Given the description of an element on the screen output the (x, y) to click on. 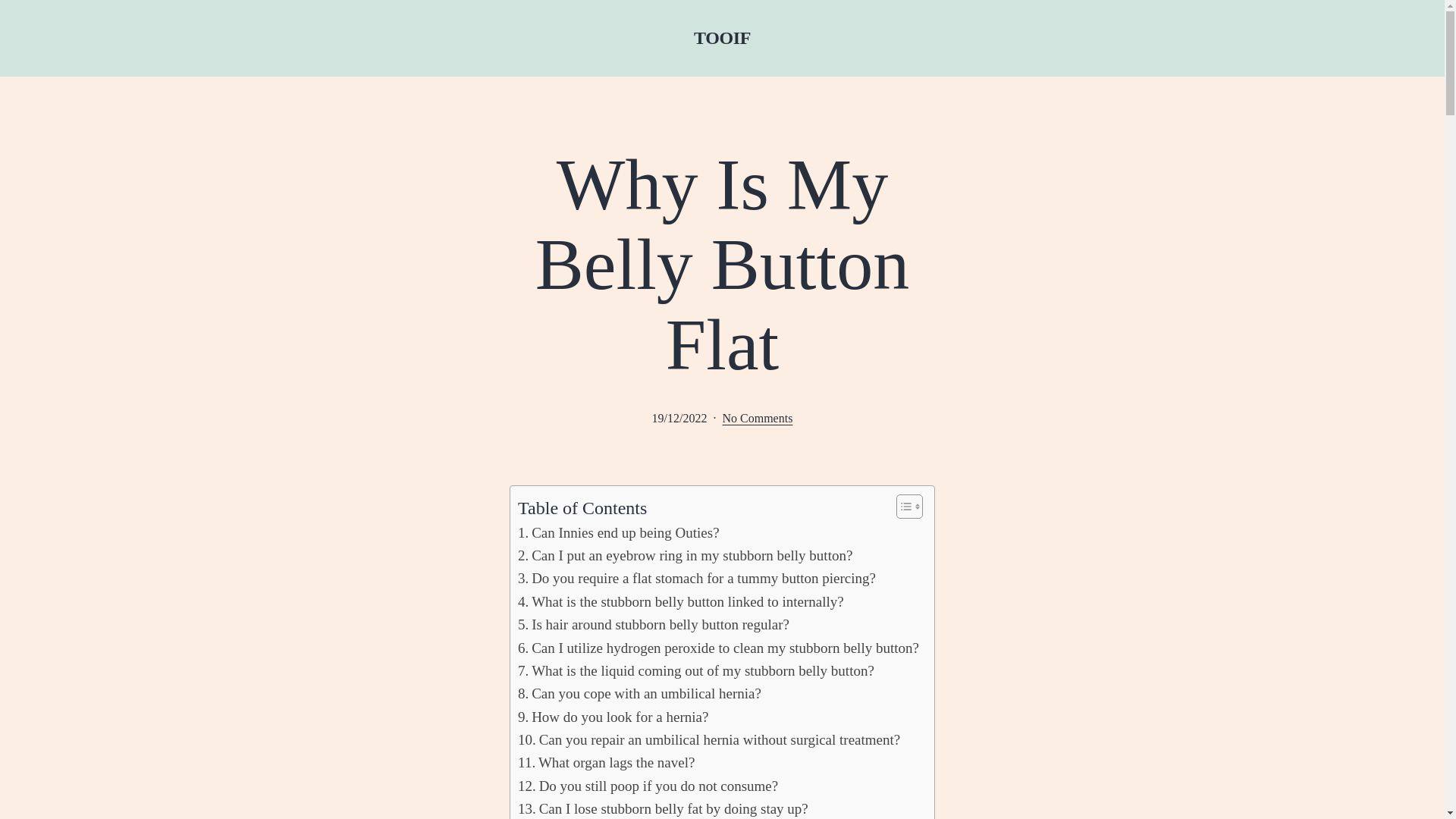
Do you still poop if you do not consume? (647, 785)
Can I lose stubborn belly fat by doing stay up? (663, 808)
Is hair around stubborn belly button regular? (653, 624)
Can I put an eyebrow ring in my stubborn belly button? (684, 555)
Is hair around stubborn belly button regular? (653, 624)
Can you cope with an umbilical hernia? (639, 693)
Can Innies end up being Outies? (618, 532)
